Given the description of an element on the screen output the (x, y) to click on. 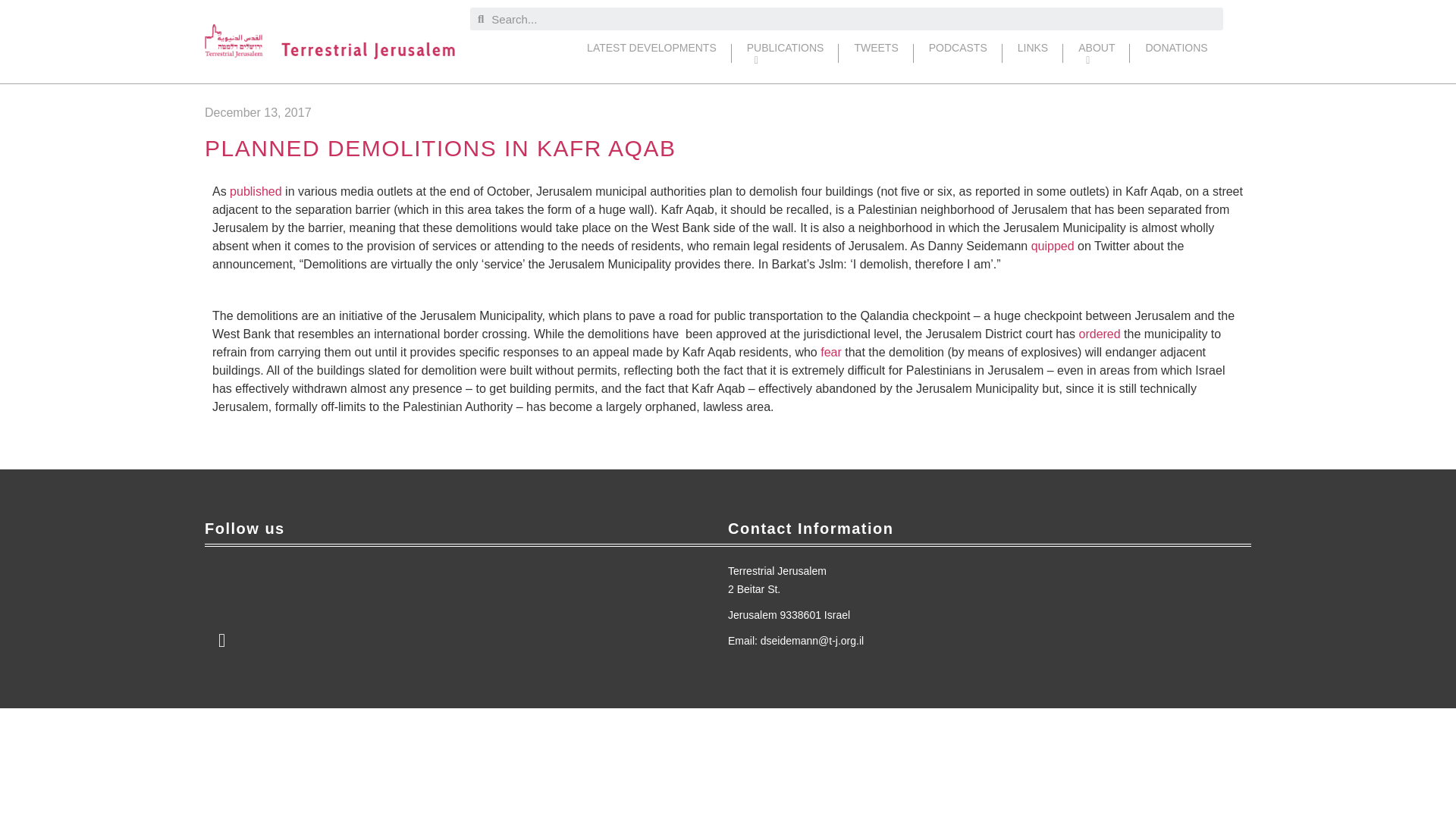
DONATIONS (1176, 53)
Search (853, 18)
LATEST DEVELOPMENTS (652, 53)
PUBLICATIONS (786, 53)
PODCASTS (958, 53)
LINKS (1032, 53)
ABOUT (1095, 53)
TWEETS (875, 53)
